Given the description of an element on the screen output the (x, y) to click on. 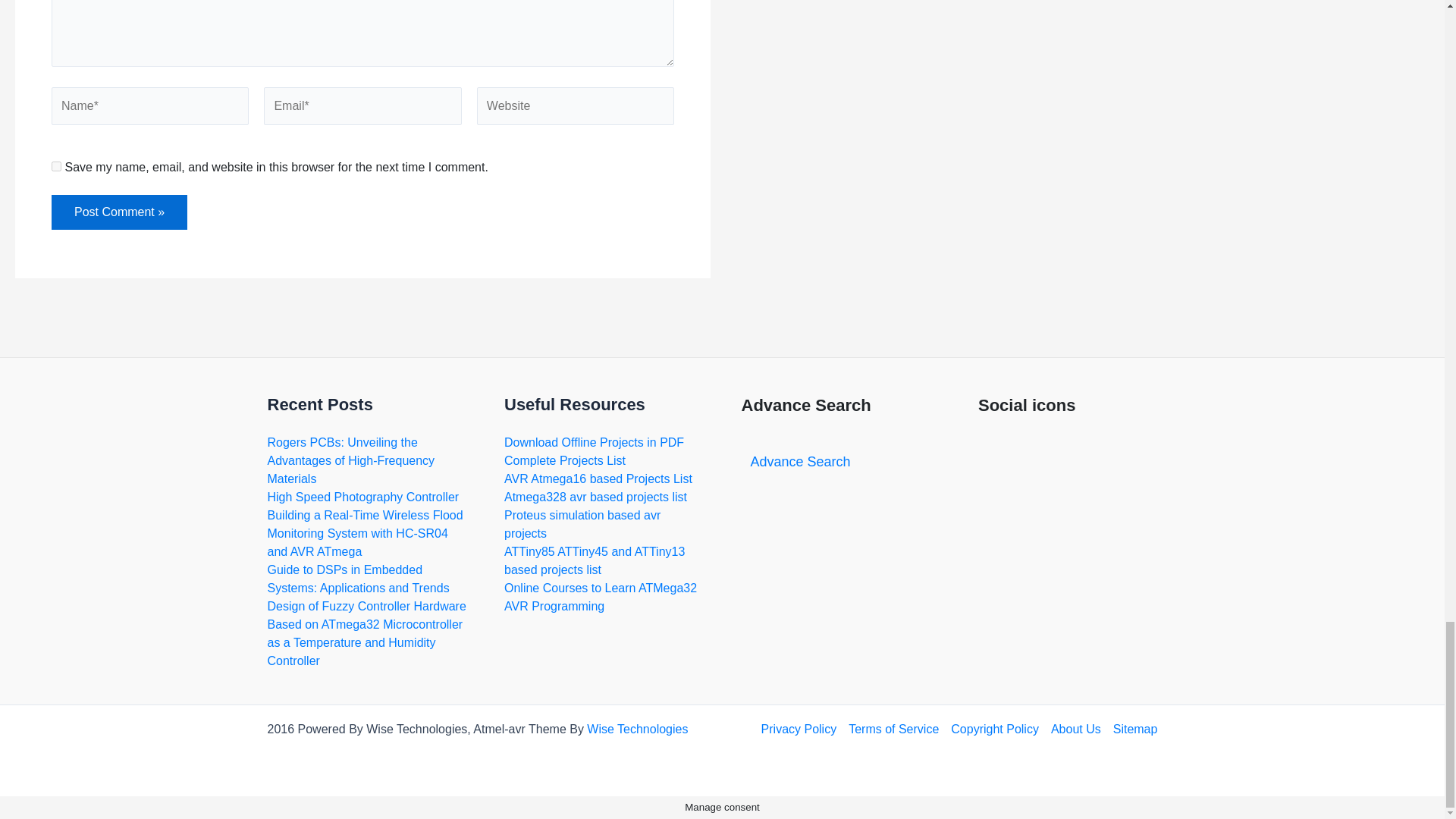
yes (55, 166)
Download Offline Projects in PDF (593, 441)
